Given the description of an element on the screen output the (x, y) to click on. 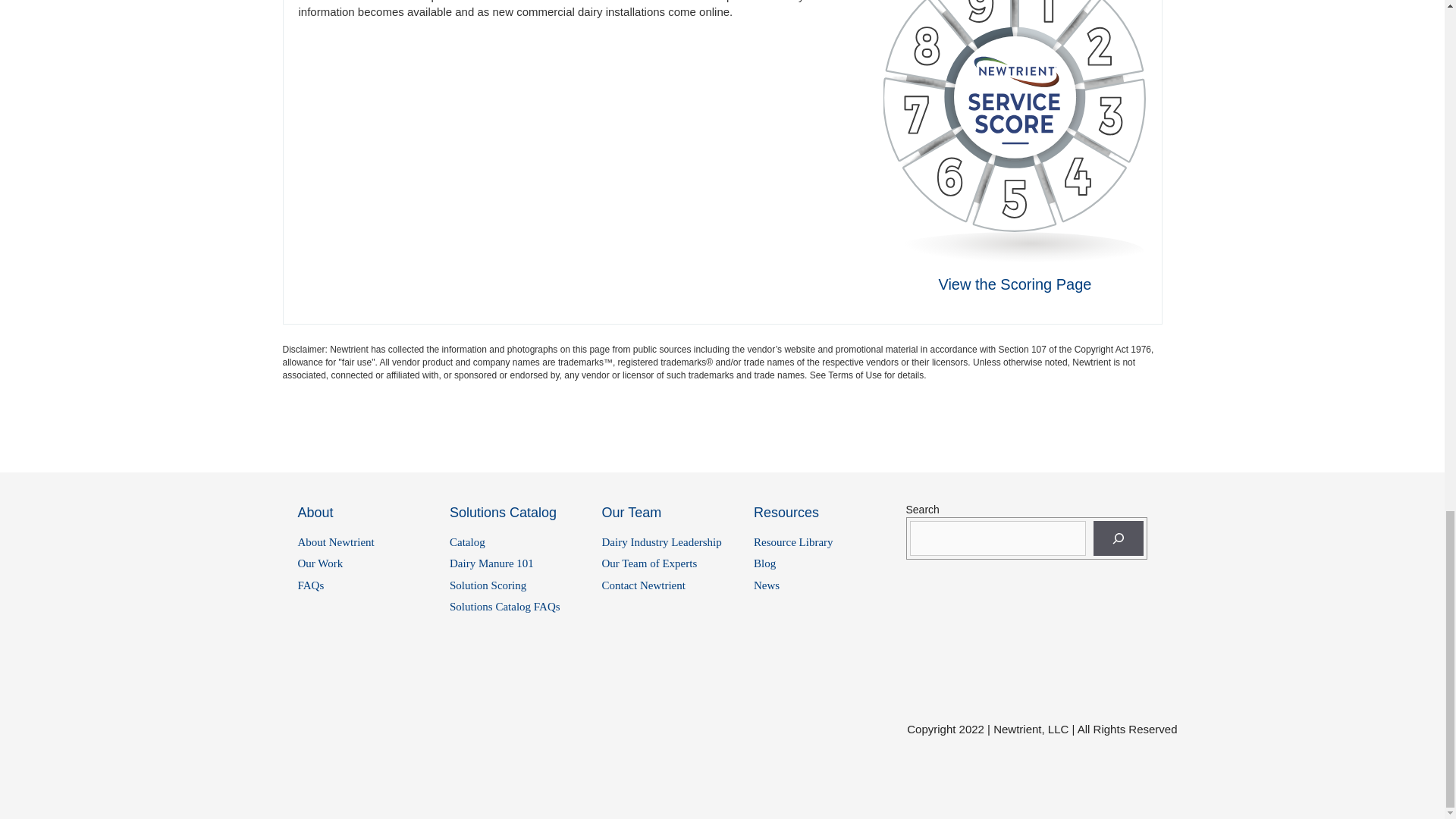
View the Scoring Page (1013, 284)
